Given the description of an element on the screen output the (x, y) to click on. 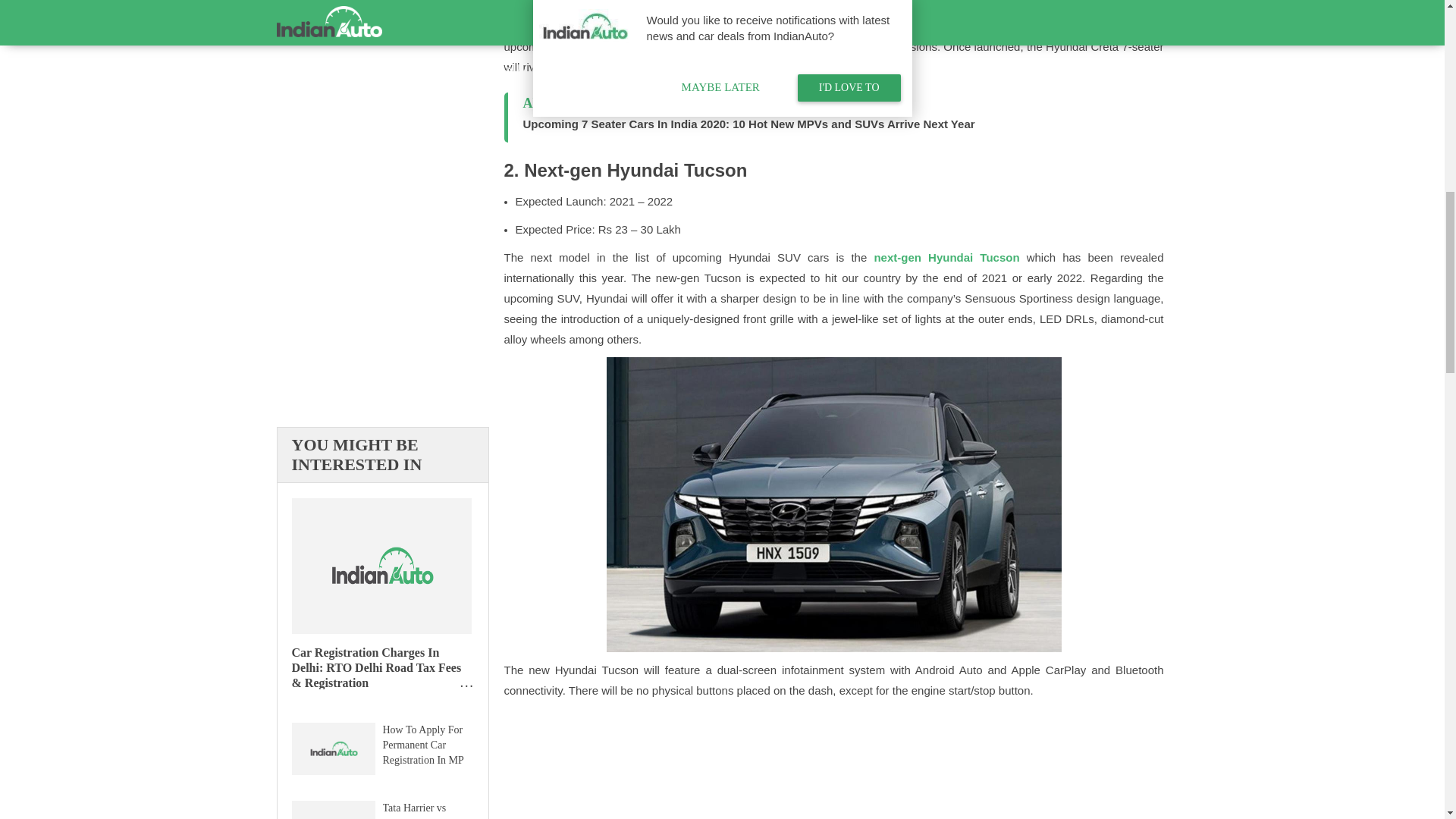
How To Apply For Permanent Car Registration In MP (332, 750)
How To Apply For Permanent Car Registration In MP (424, 744)
